Given the description of an element on the screen output the (x, y) to click on. 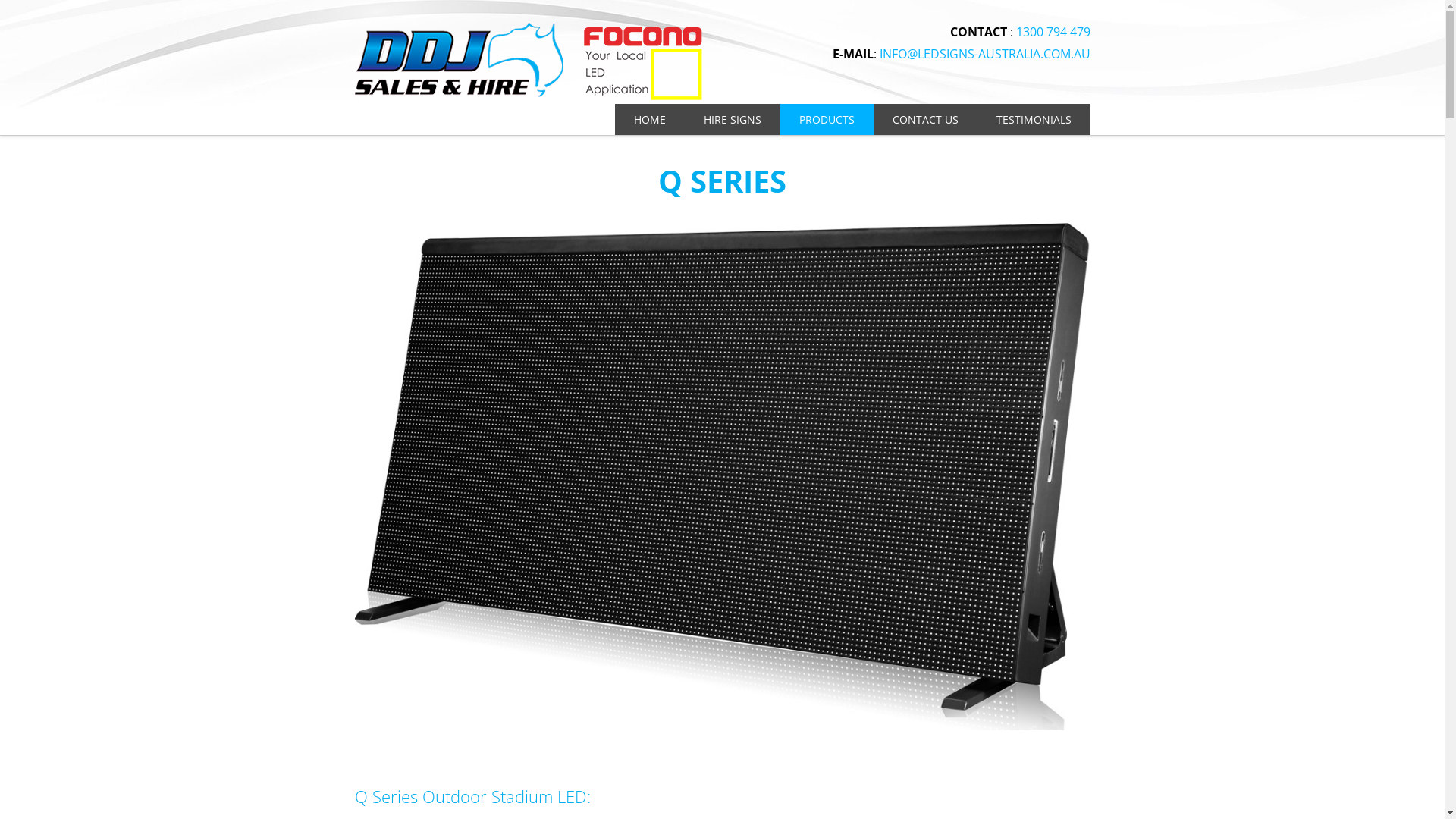
PRODUCTS Element type: text (825, 118)
CONTACT US Element type: text (925, 118)
1300 794 479 Element type: text (1053, 31)
HOME Element type: text (649, 118)
INFO@LEDSIGNS-AUSTRALIA.COM.AU Element type: text (984, 53)
HIRE SIGNS Element type: text (731, 118)
DDJ Sales & Hire Element type: hover (529, 30)
TESTIMONIALS Element type: text (1032, 118)
